Given the description of an element on the screen output the (x, y) to click on. 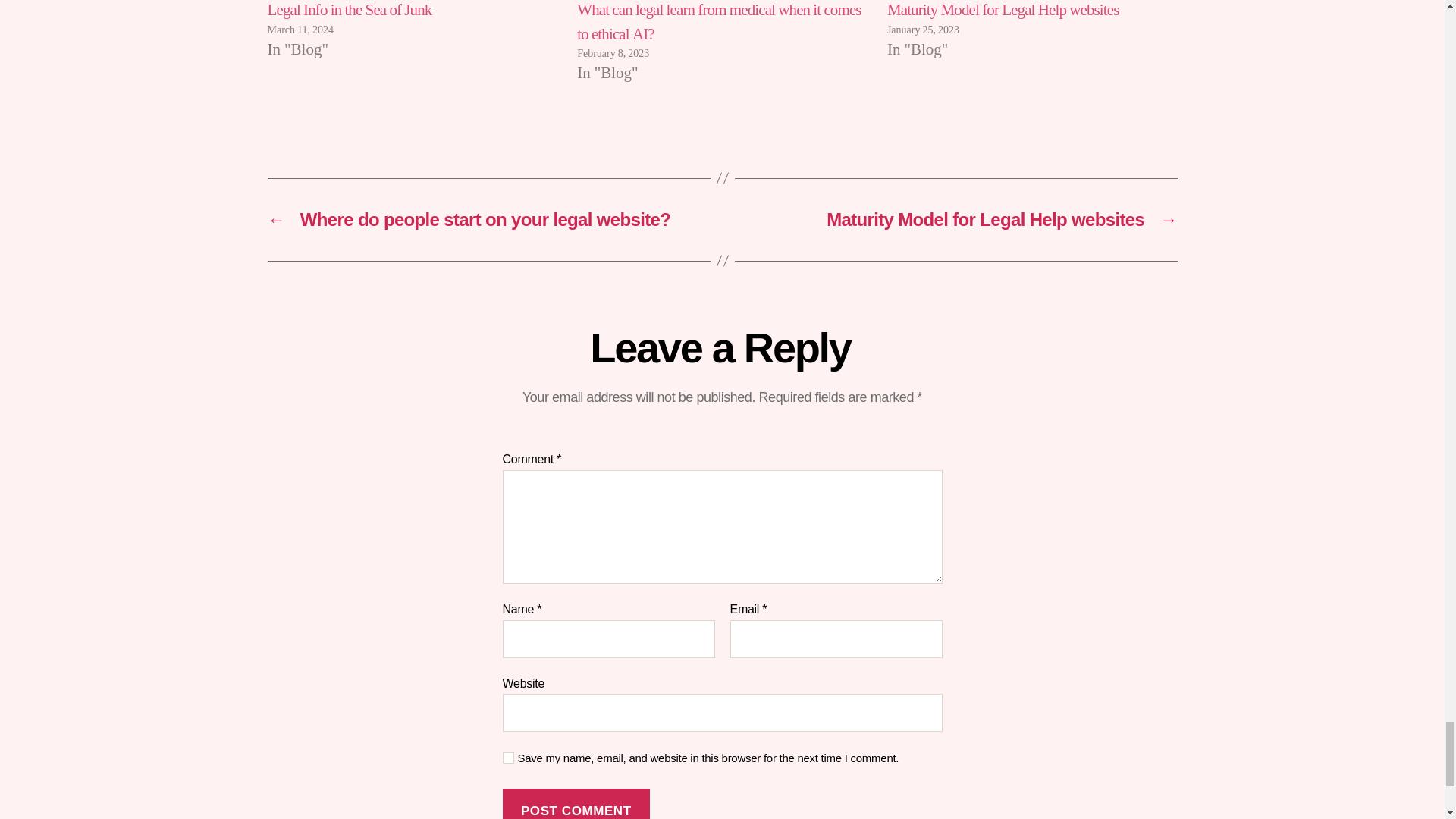
Legal Info in the Sea of Junk (348, 10)
Post Comment (575, 803)
Maturity Model for Legal Help websites (1002, 10)
yes (507, 757)
